Given the description of an element on the screen output the (x, y) to click on. 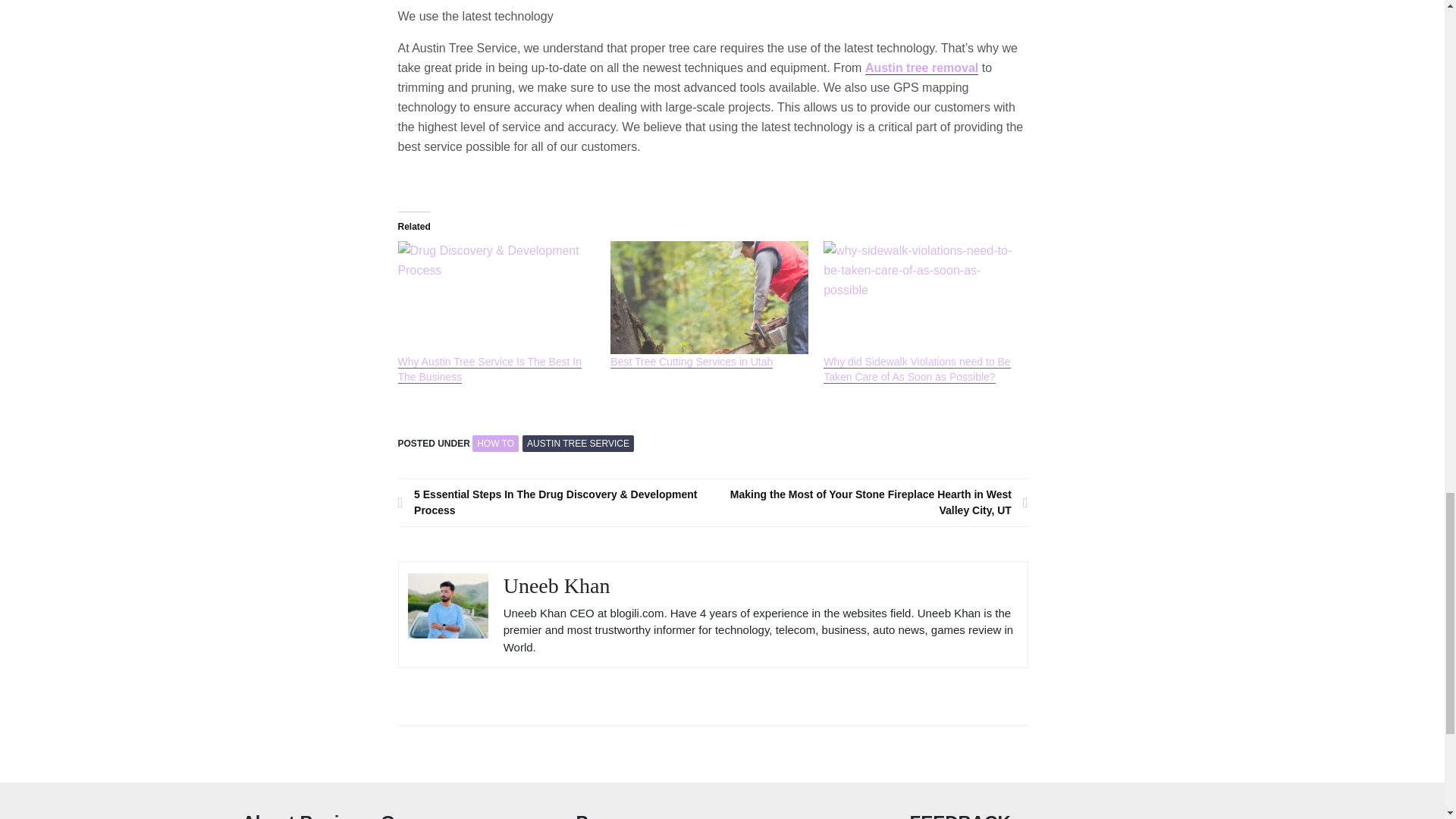
Why Austin Tree Service Is The Best In The Business (488, 369)
Austin tree removal (921, 68)
Why Austin Tree Service Is The Best In The Business (496, 296)
Best Tree Cutting Services in Utah (691, 361)
Best Tree Cutting Services in Utah (709, 296)
Why Austin Tree Service Is The Best In The Business (488, 369)
